Given the description of an element on the screen output the (x, y) to click on. 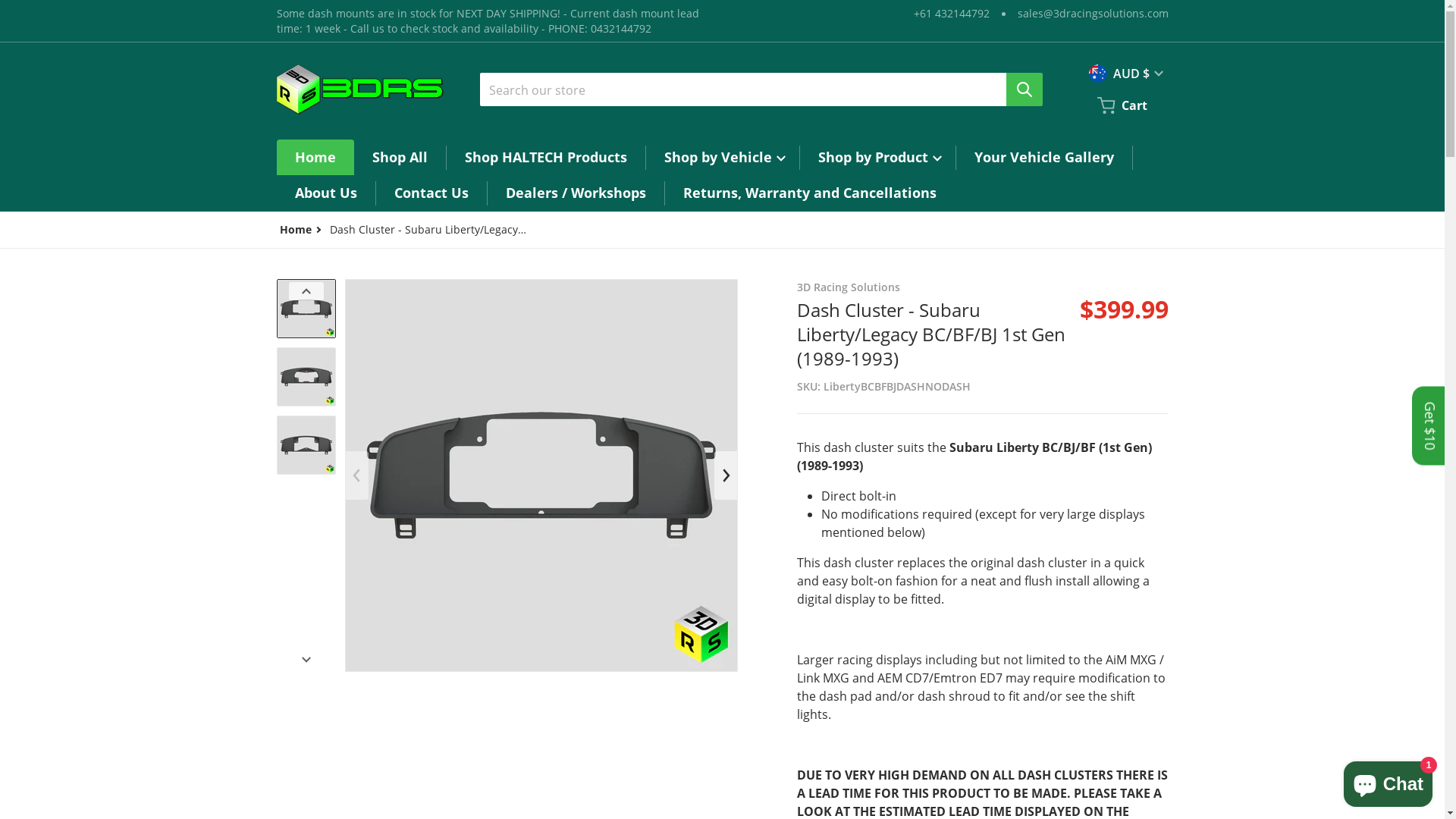
+61 432144792 Element type: text (950, 13)
Shopify online store chat Element type: hover (1388, 780)
sales@3dracingsolutions.com Element type: text (1092, 13)
Returns, Warranty and Cancellations Element type: text (808, 192)
About Us Element type: text (325, 192)
Shop by Product Element type: text (876, 157)
Open media 1 in gallery view Element type: text (541, 475)
Shop by Vehicle Element type: text (722, 157)
Shop All Element type: text (399, 157)
Your Vehicle Gallery Element type: text (1043, 157)
Home Element type: text (294, 229)
Home Element type: text (314, 157)
Cart Element type: text (1122, 105)
Open media 2 in gallery view Element type: text (932, 475)
Shop HALTECH Products Element type: text (544, 157)
Contact Us Element type: text (431, 192)
Dealers / Workshops Element type: text (574, 192)
